Given the description of an element on the screen output the (x, y) to click on. 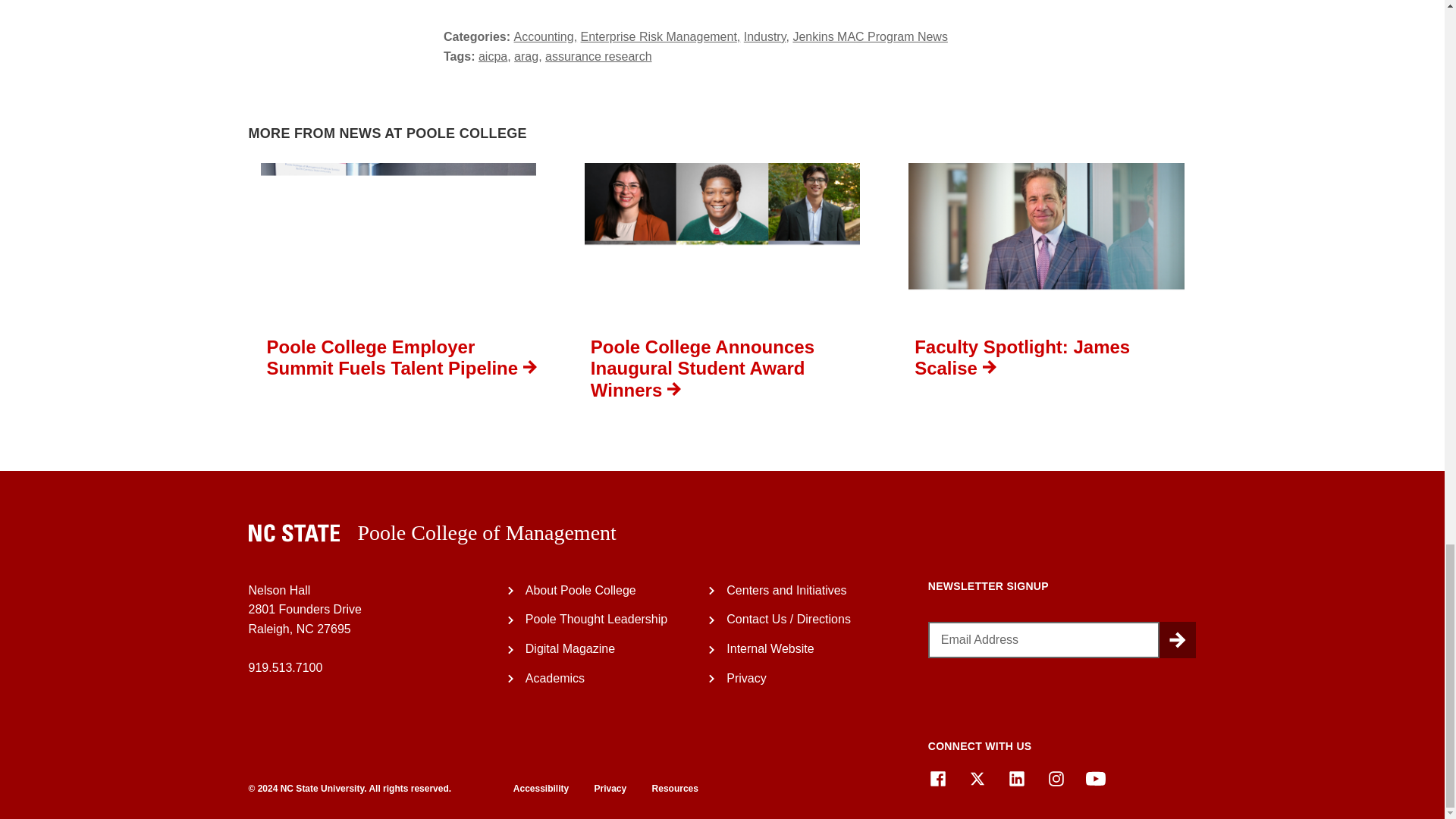
X (977, 778)
YouTube (1095, 778)
Facebook (937, 778)
Instagram (1055, 778)
LinkedIn (1016, 778)
